Given the description of an element on the screen output the (x, y) to click on. 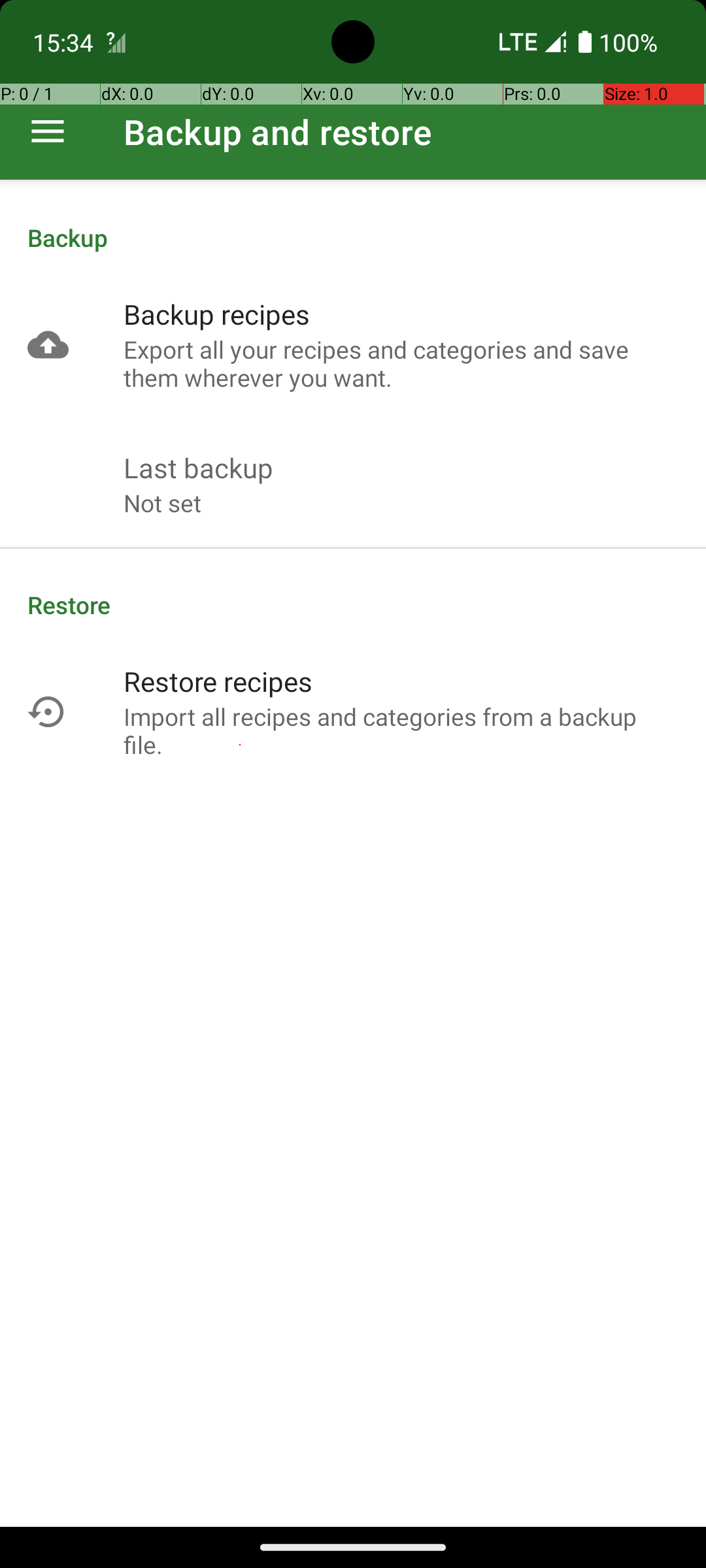
Backup and restore Element type: android.widget.TextView (277, 131)
Backup recipes Element type: android.widget.TextView (216, 313)
Export all your recipes and categories and save them wherever you want. Element type: android.widget.TextView (400, 362)
Last backup Element type: android.widget.TextView (198, 467)
Not set Element type: android.widget.TextView (162, 502)
Restore Element type: android.widget.TextView (352, 604)
Restore recipes Element type: android.widget.TextView (217, 680)
Import all recipes and categories from a backup file. Element type: android.widget.TextView (400, 730)
